Given the description of an element on the screen output the (x, y) to click on. 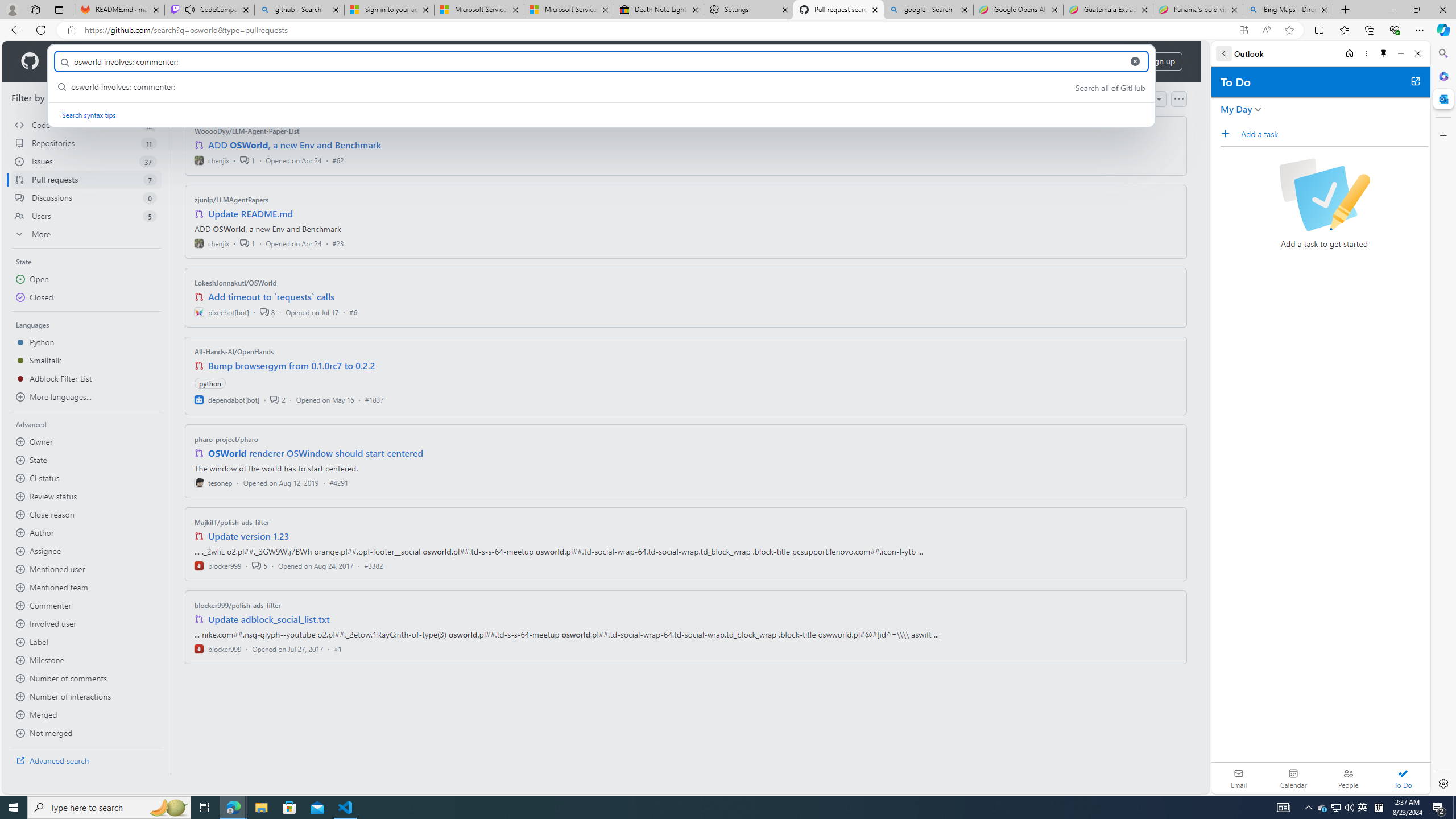
Sign in to your account (389, 9)
#23 (337, 242)
#1 (337, 648)
Solutions (128, 60)
